Given the description of an element on the screen output the (x, y) to click on. 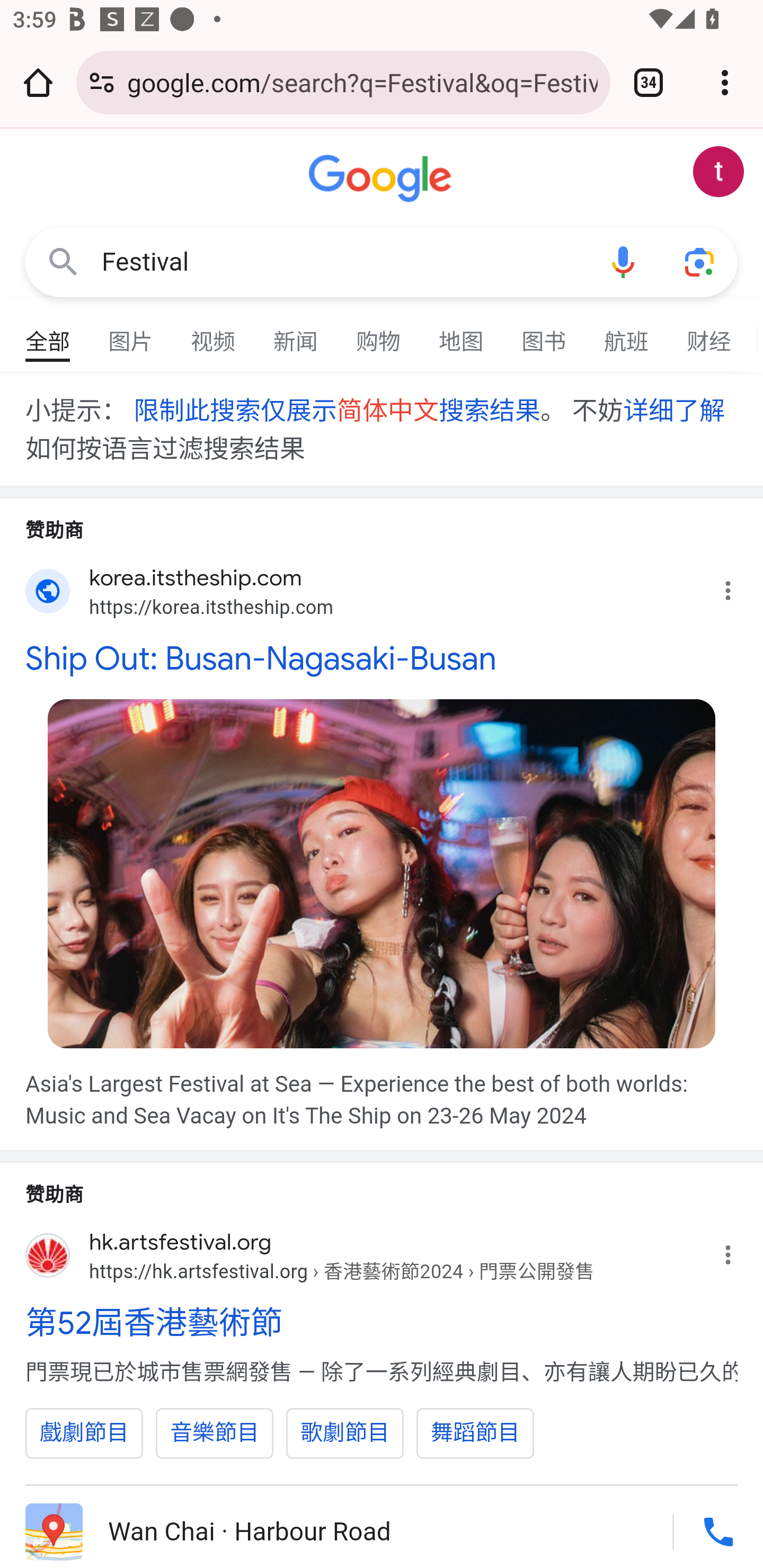
Open the home page (38, 82)
Connection is secure (101, 82)
Switch or close tabs (648, 82)
Customize and control Google Chrome (724, 82)
Google (381, 179)
Google 账号： test appium (testappium002@gmail.com) (718, 171)
Google 搜索 (63, 262)
使用拍照功能或照片进行搜索 (699, 262)
Festival (343, 261)
图片 (131, 333)
视频 (213, 333)
新闻 (296, 333)
购物 (379, 333)
地图 (461, 333)
图书 (544, 333)
航班 (627, 333)
财经 (709, 333)
限制此搜索仅展示简体中文搜索结果 限制此搜索仅展示 简体中文 搜索结果 (335, 409)
详细了解 (672, 409)
为什么会显示该广告？ (738, 586)
Ship Out: Busan-Nagasaki-Busan (381, 657)
图片来自 itstheship.com (381, 872)
为什么会显示该广告？ (738, 1250)
第52屆香港藝術節 (381, 1323)
戲劇節目 (84, 1433)
音樂節目 (214, 1433)
歌劇節目 (345, 1433)
舞蹈節目 (475, 1433)
